Given the description of an element on the screen output the (x, y) to click on. 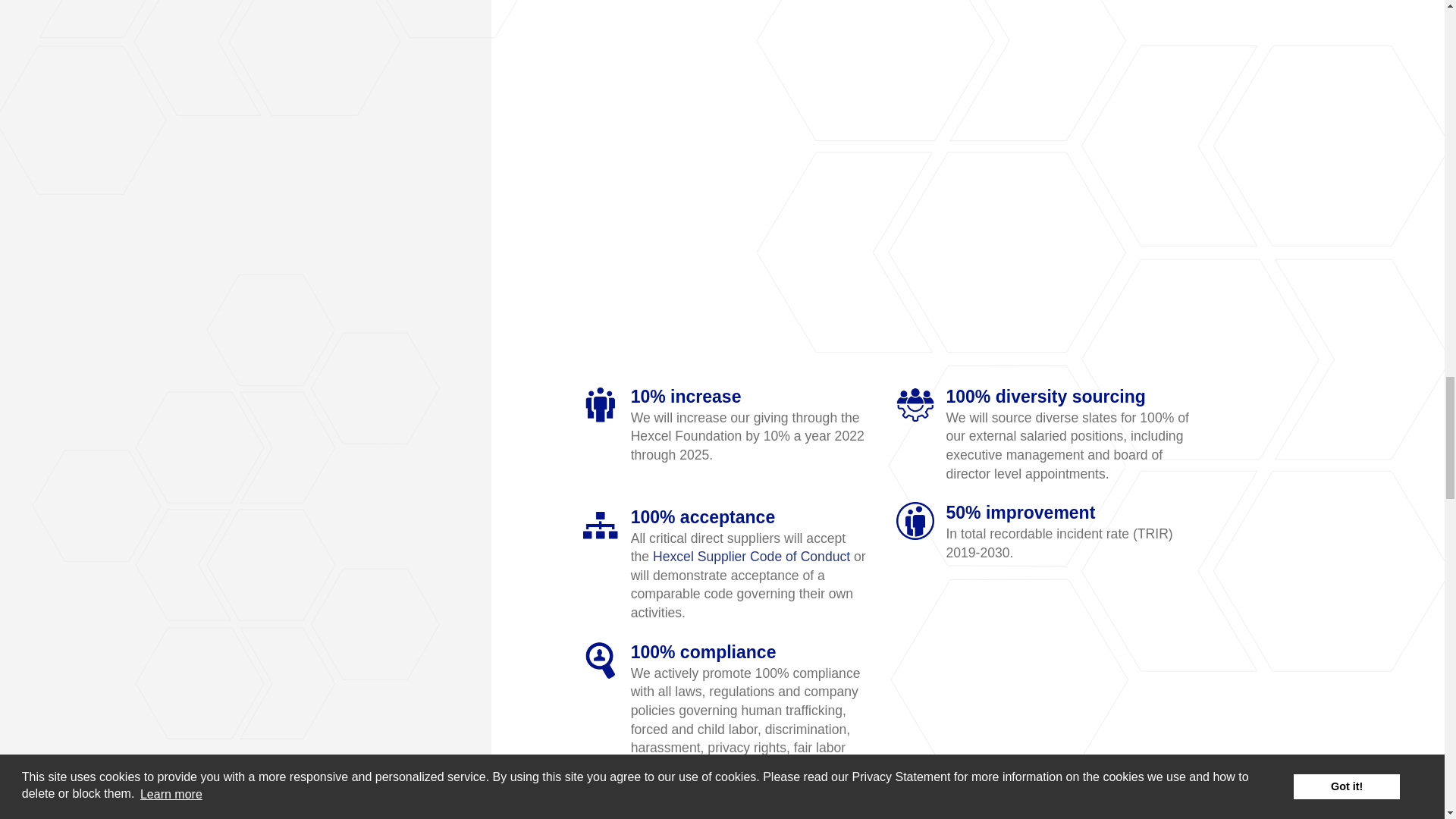
DIVERSITY (915, 404)
Hexcel Supplier Code of Conduct (751, 556)
FOUNDATION (600, 404)
COMPLIANCE (600, 660)
TRIR (915, 520)
SUPPLIERS (600, 525)
